Given the description of an element on the screen output the (x, y) to click on. 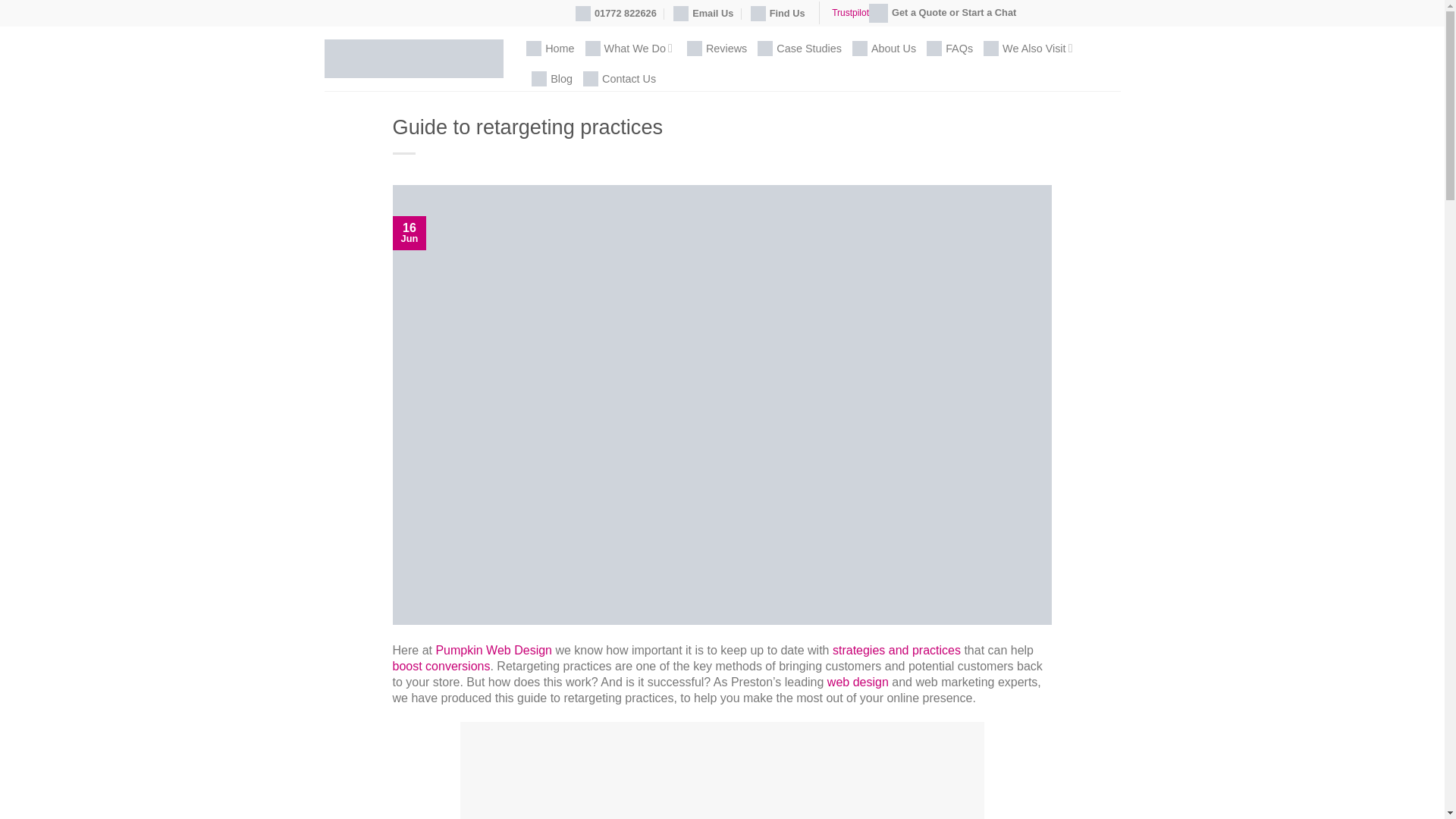
Home (549, 48)
Get a Quote or Start a Chat (942, 13)
Pumpkin Web Design (413, 58)
Trustpilot (850, 12)
About Us (883, 48)
FAQs (949, 48)
We Also Visit (1029, 48)
What We Do (631, 48)
01772 822626 (615, 13)
Reviews (716, 48)
